Given the description of an element on the screen output the (x, y) to click on. 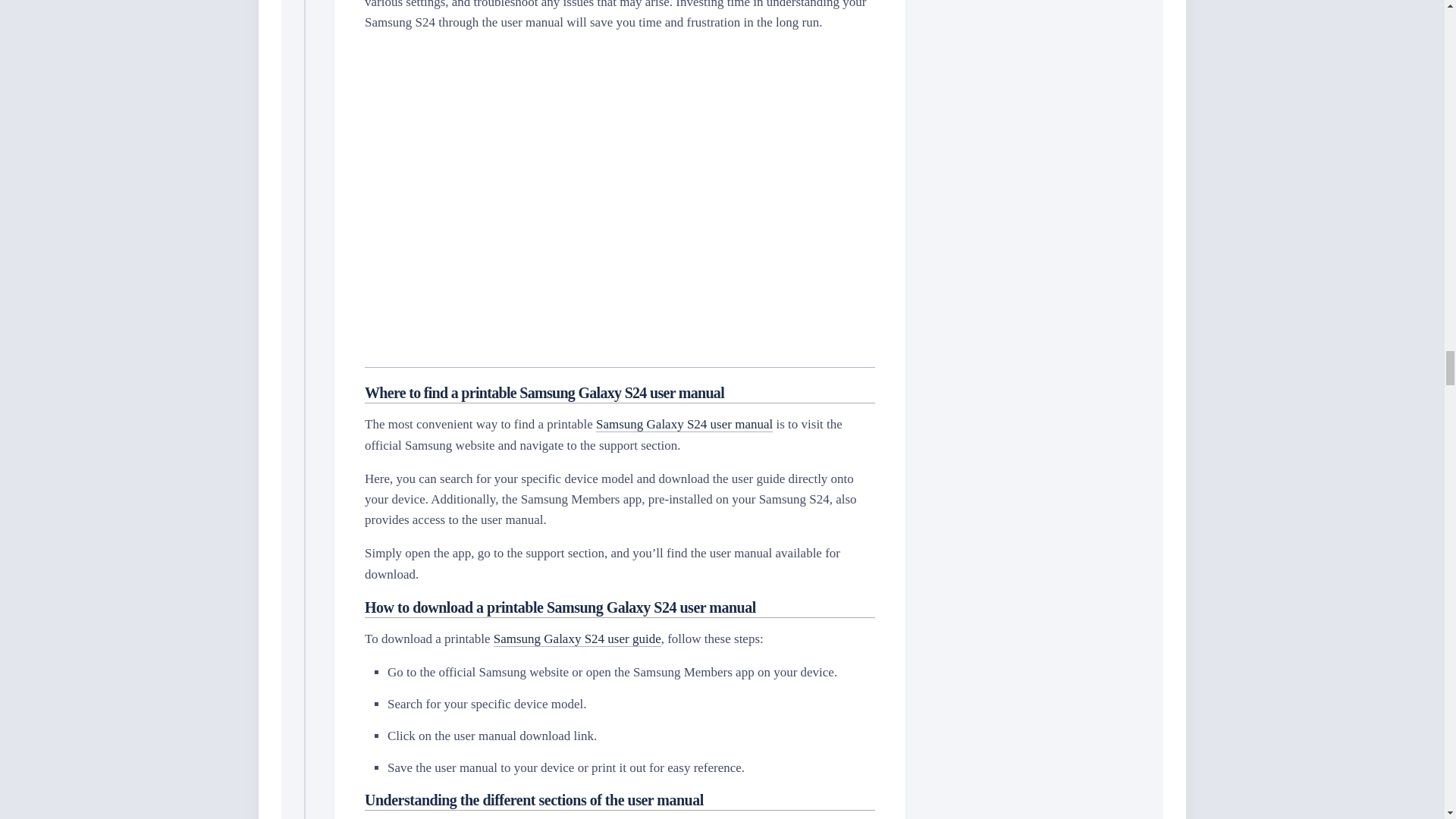
Samsung Galaxy S24 user guide (577, 638)
Samsung Galaxy S24 user manual (684, 423)
